Given the description of an element on the screen output the (x, y) to click on. 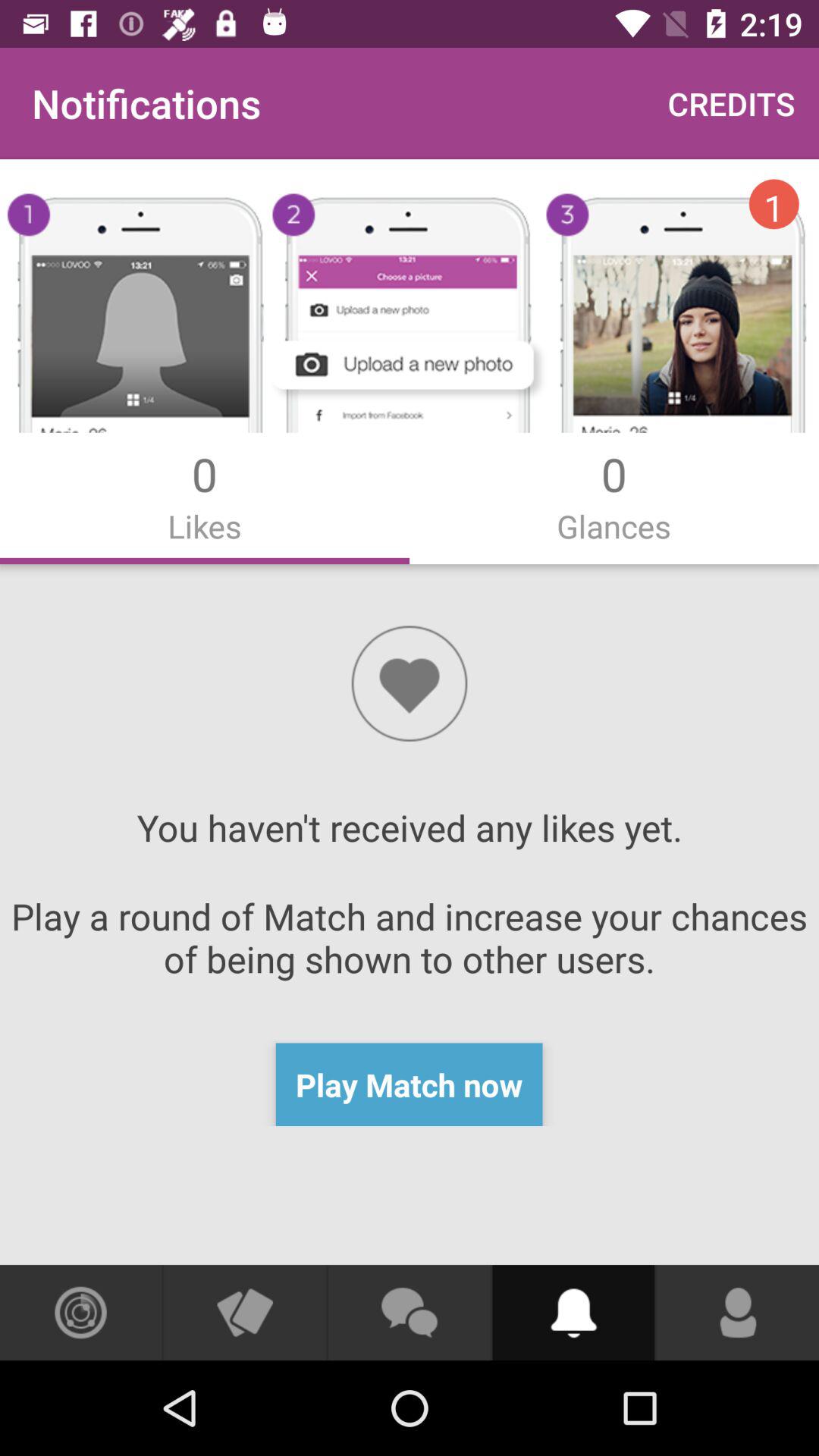
turn off the item next to notifications (731, 103)
